Given the description of an element on the screen output the (x, y) to click on. 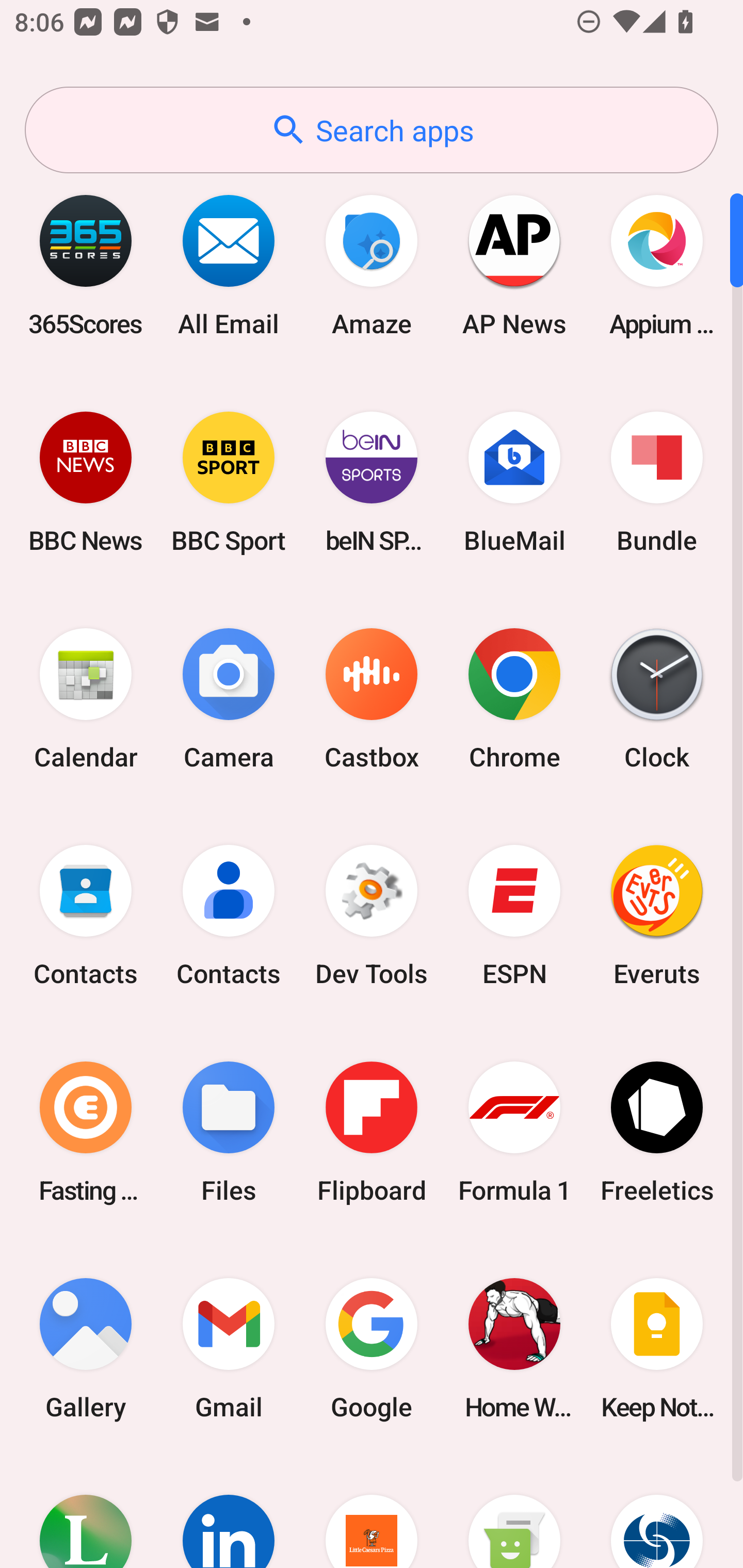
  Search apps (371, 130)
365Scores (85, 264)
All Email (228, 264)
Amaze (371, 264)
AP News (514, 264)
Appium Settings (656, 264)
BBC News (85, 482)
BBC Sport (228, 482)
beIN SPORTS (371, 482)
BlueMail (514, 482)
Bundle (656, 482)
Calendar (85, 699)
Camera (228, 699)
Castbox (371, 699)
Chrome (514, 699)
Clock (656, 699)
Contacts (85, 915)
Contacts (228, 915)
Dev Tools (371, 915)
ESPN (514, 915)
Everuts (656, 915)
Fasting Coach (85, 1131)
Files (228, 1131)
Flipboard (371, 1131)
Formula 1 (514, 1131)
Freeletics (656, 1131)
Gallery (85, 1348)
Gmail (228, 1348)
Google (371, 1348)
Home Workout (514, 1348)
Keep Notes (656, 1348)
